Given the description of an element on the screen output the (x, y) to click on. 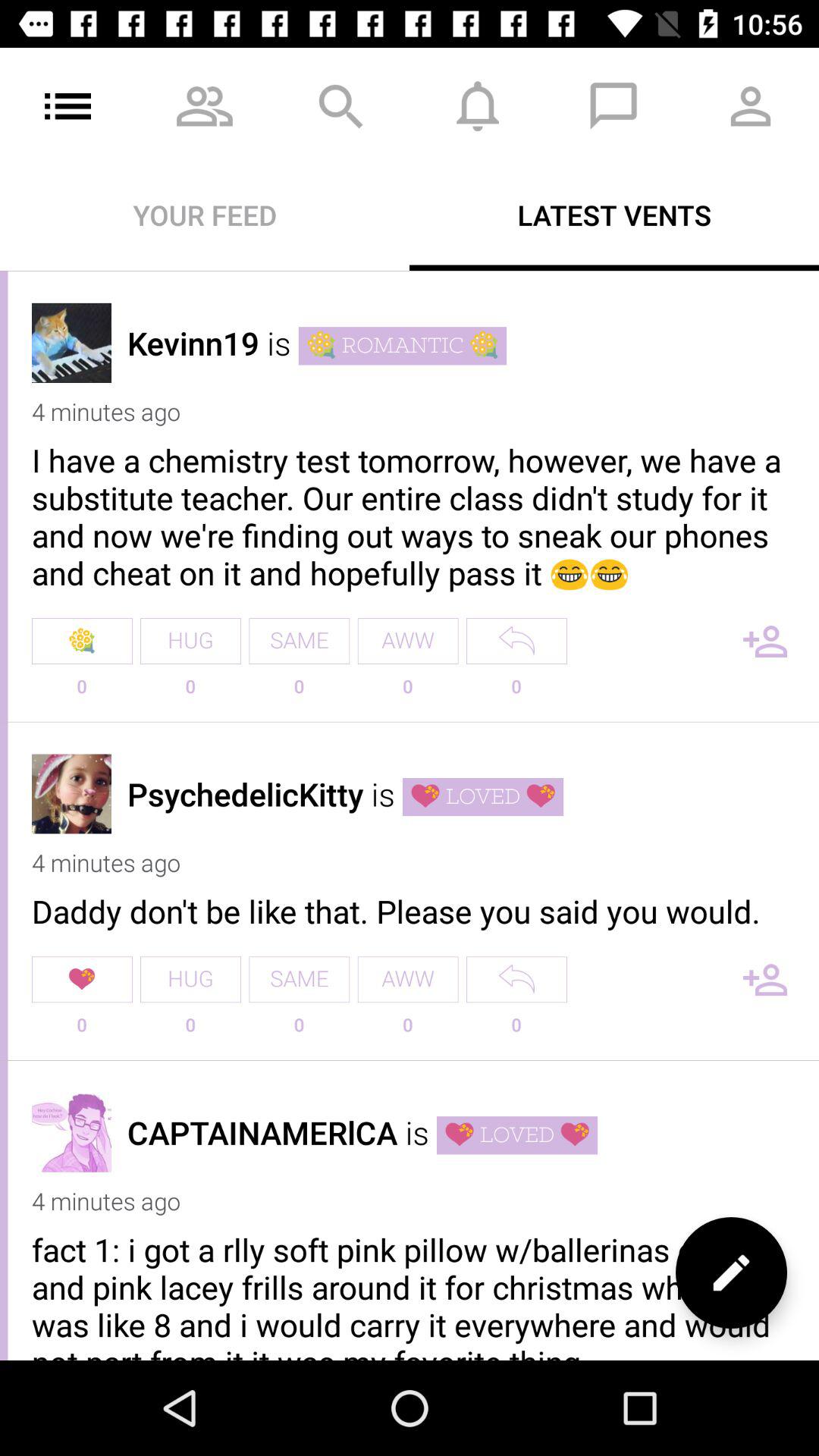
profile picture (71, 342)
